Given the description of an element on the screen output the (x, y) to click on. 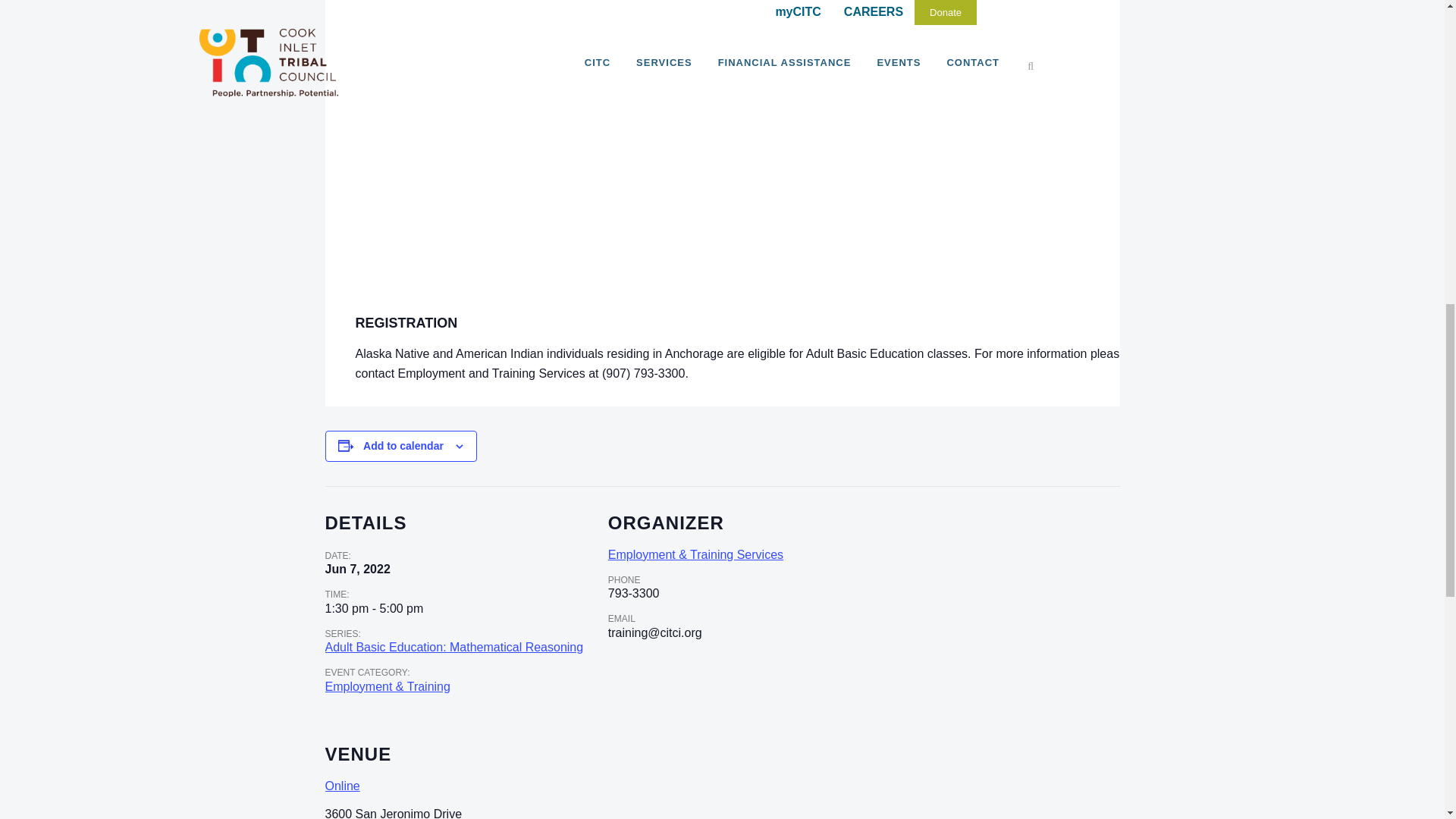
2022-06-07 (357, 569)
Google maps iframe displaying the address to Online (873, 780)
2022-06-07 (373, 608)
Adult Basic Education: Mathematical Reasoning (453, 646)
